Given the description of an element on the screen output the (x, y) to click on. 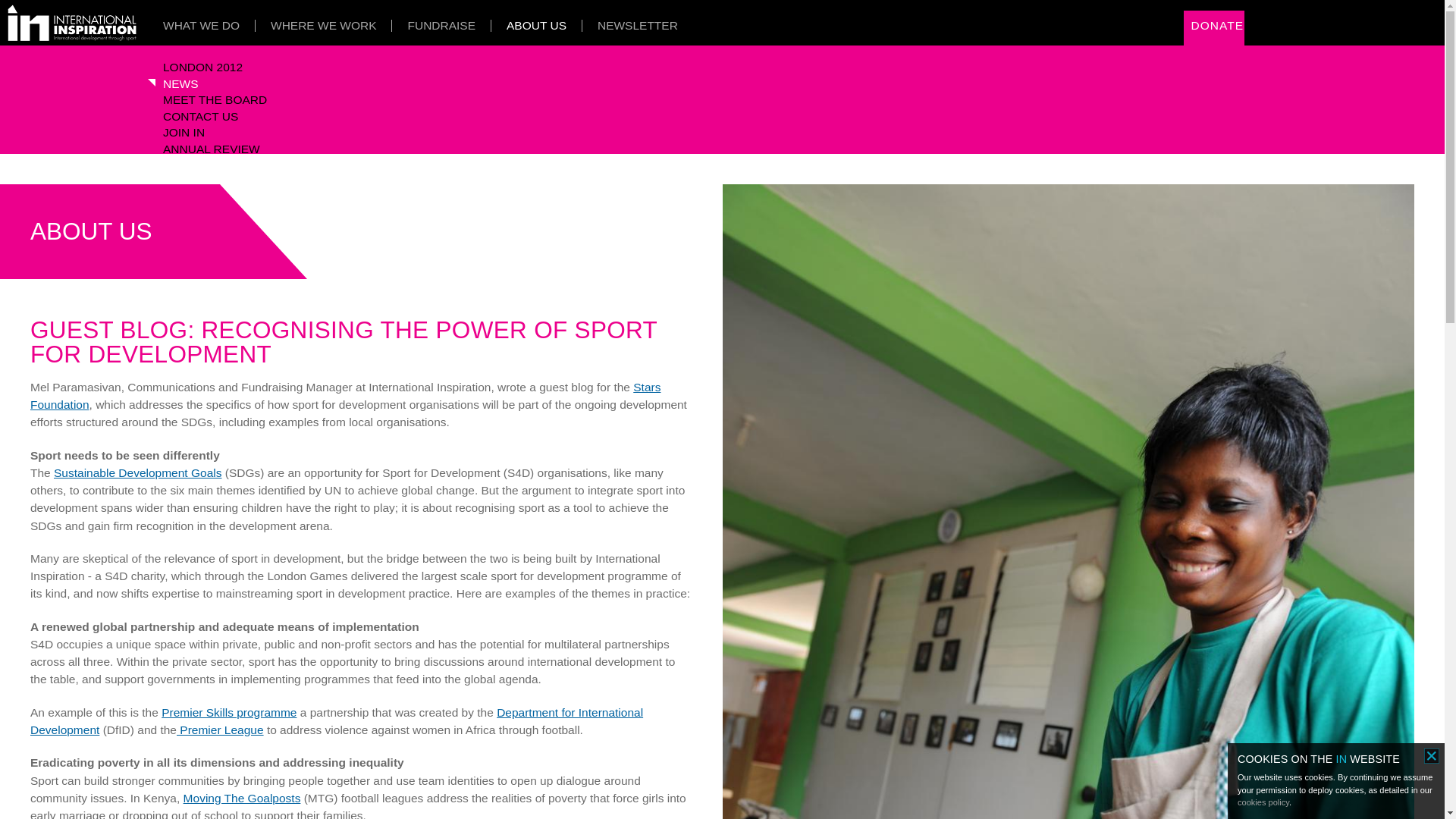
Skip to main content (693, 1)
ANNUAL REVIEW (211, 149)
Stars Foundation (345, 395)
ABOUT US (124, 231)
Department for International Development (336, 720)
DONATE (1217, 25)
FUNDRAISE (441, 25)
NEWS (180, 84)
ABOUT US (537, 25)
TWITTER (1399, 24)
